Given the description of an element on the screen output the (x, y) to click on. 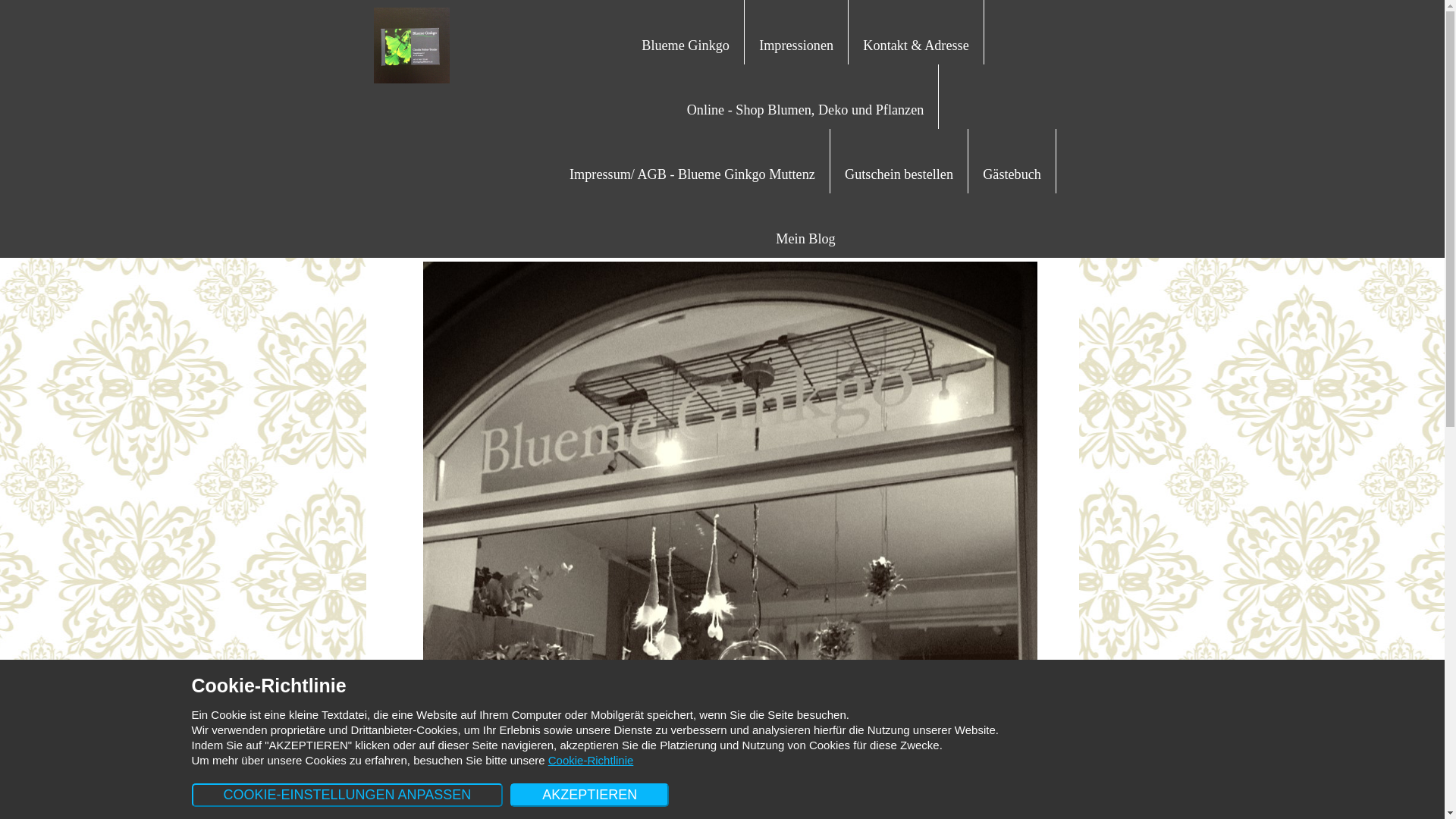
Gutschein bestellen Element type: text (898, 172)
Kontakt & Adresse Element type: text (915, 43)
Mein Blog Element type: text (805, 236)
COOKIE-EINSTELLUNGEN ANPASSEN Element type: text (346, 794)
Impressionen Element type: text (795, 43)
Impressum/ AGB - Blueme Ginkgo Muttenz Element type: text (691, 172)
Cookie-Richtlinie Element type: text (590, 759)
Blueme Ginkgo Element type: text (685, 43)
AKZEPTIEREN Element type: text (589, 794)
Online - Shop Blumen, Deko und Pflanzen Element type: text (805, 107)
